Given the description of an element on the screen output the (x, y) to click on. 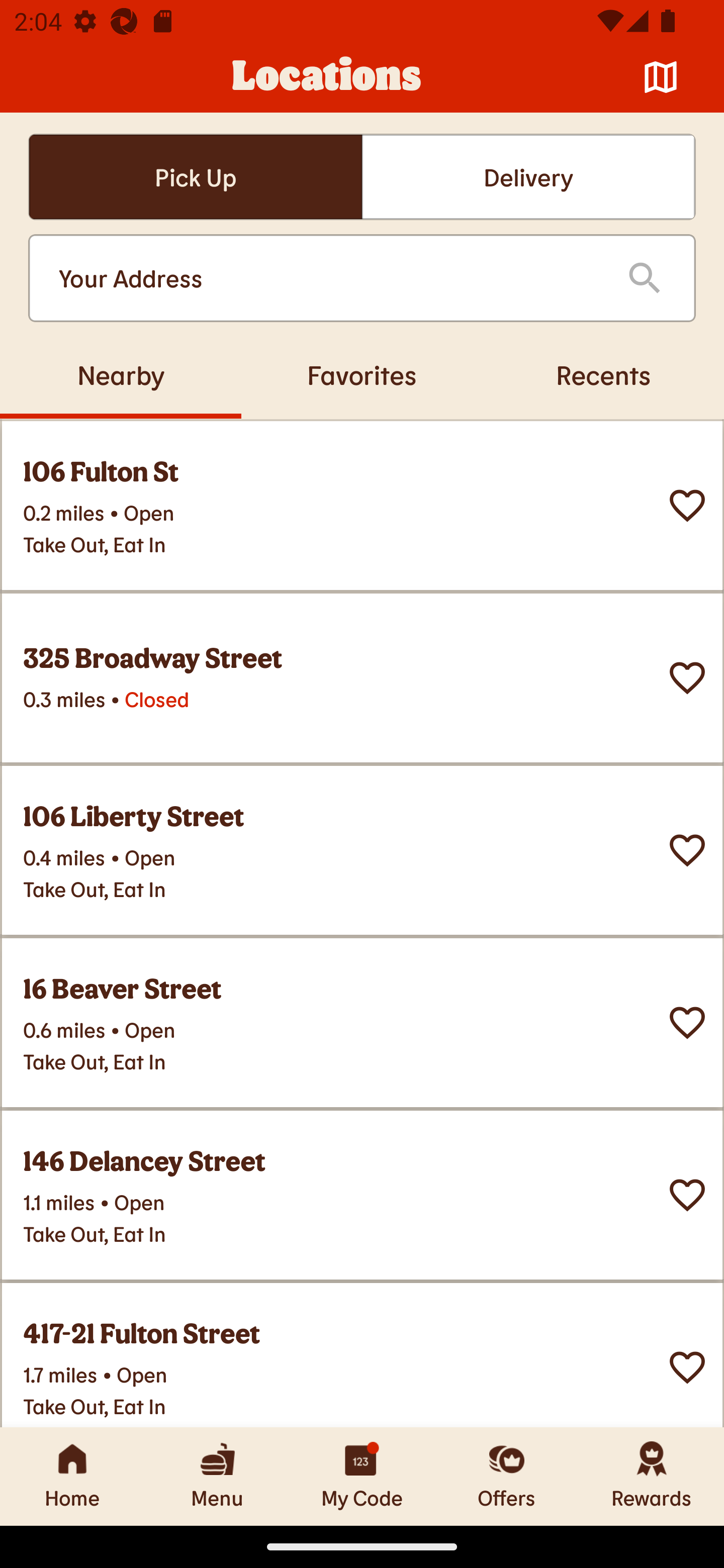
Map 󰦂 (660, 77)
Locations (326, 77)
Pick UpSelected Pick UpSelected Pick Up (195, 176)
Delivery Delivery Delivery (528, 176)
Your Address (327, 277)
Nearby (120, 374)
Favorites (361, 374)
Recents (603, 374)
Set this restaurant as a favorite  (687, 505)
Set this restaurant as a favorite  (687, 677)
Set this restaurant as a favorite  (687, 850)
Set this restaurant as a favorite  (687, 1022)
Set this restaurant as a favorite  (687, 1195)
Set this restaurant as a favorite  (687, 1367)
Home (72, 1475)
Menu (216, 1475)
My Code (361, 1475)
Offers (506, 1475)
Rewards (651, 1475)
